Given the description of an element on the screen output the (x, y) to click on. 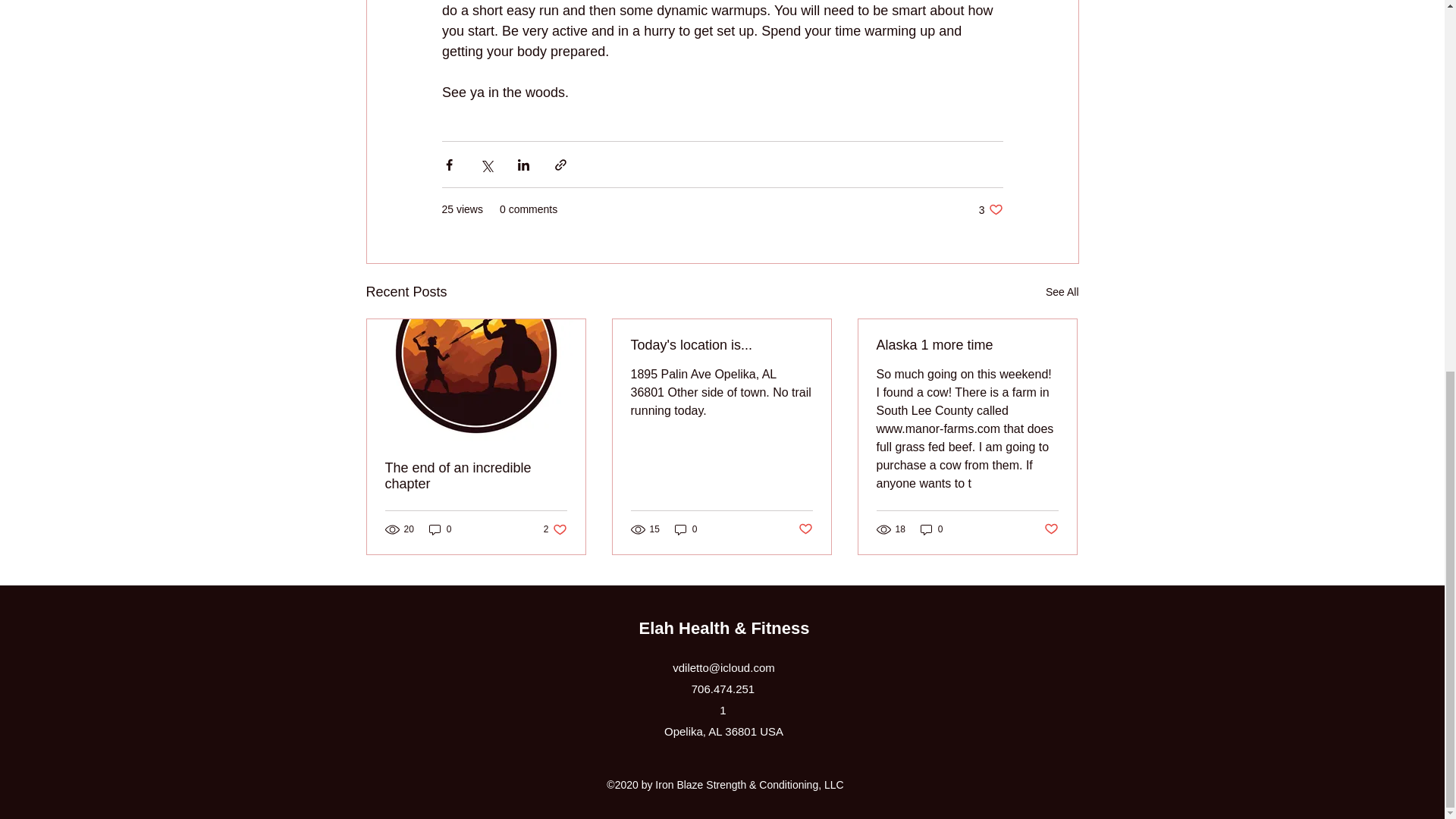
Post not marked as liked (990, 209)
0 (1050, 529)
0 (440, 529)
0 (685, 529)
See All (931, 529)
The end of an incredible chapter (1061, 292)
Post not marked as liked (555, 529)
Today's location is... (476, 476)
